Given the description of an element on the screen output the (x, y) to click on. 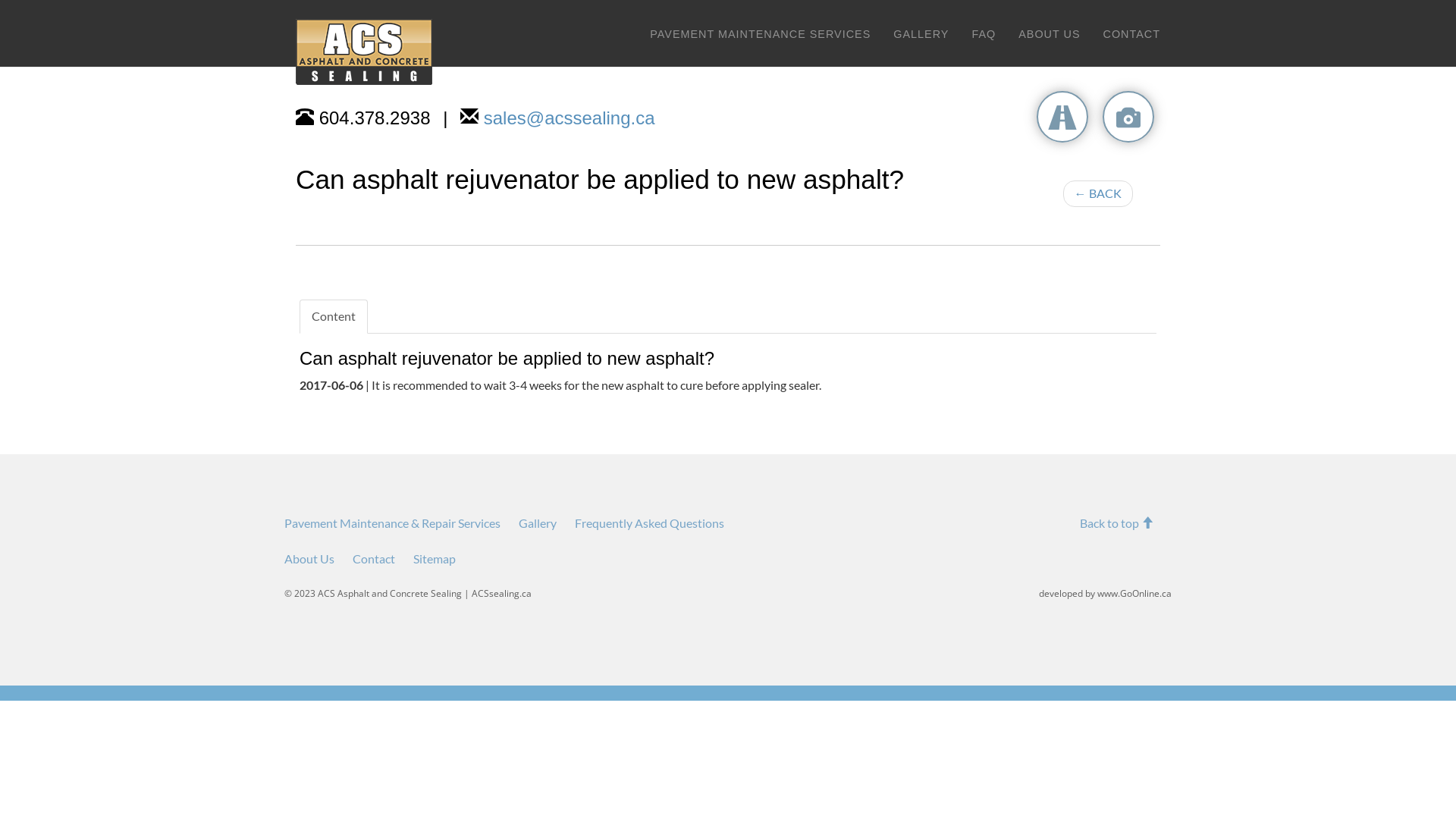
CONTACT Element type: text (1131, 34)
PAVEMENT MAINTENANCE SERVICES Element type: text (759, 34)
Contact Element type: text (373, 558)
Gallery Element type: text (537, 522)
FAQ Element type: text (983, 34)
www.GoOnline.ca Element type: text (1134, 592)
Back to top Element type: text (1116, 522)
Sitemap Element type: text (434, 558)
ABOUT US Element type: text (1049, 34)
GALLERY Element type: text (920, 34)
Pavement Maintenance & Repair Services Element type: text (392, 522)
sales@acssealing.ca Element type: text (569, 117)
About Us Element type: text (309, 558)
Content Element type: text (333, 316)
Frequently Asked Questions Element type: text (649, 522)
